Given the description of an element on the screen output the (x, y) to click on. 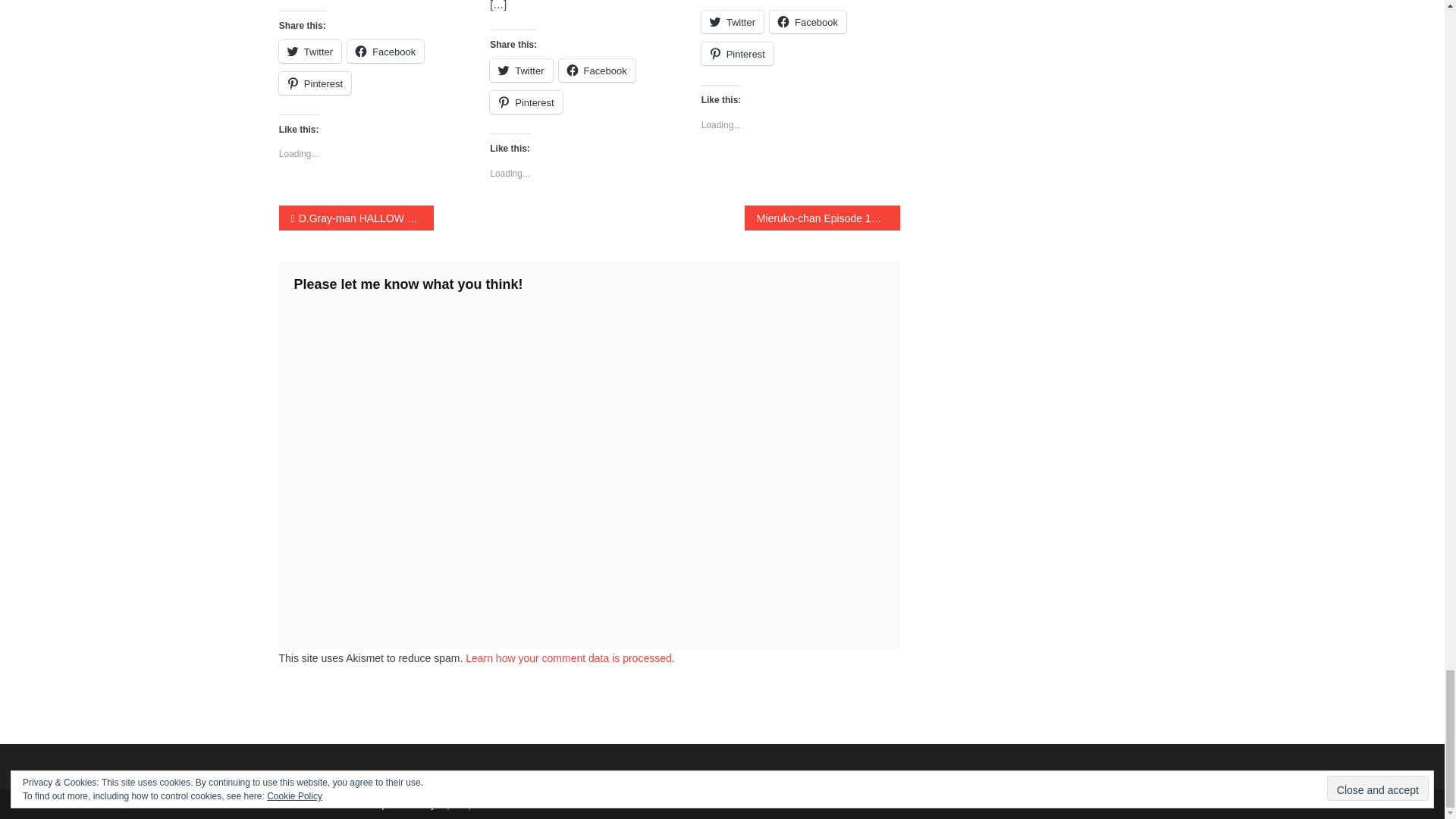
Click to share on Pinterest (525, 101)
Click to share on Twitter (731, 21)
Click to share on Facebook (596, 69)
Click to share on Twitter (520, 69)
Click to share on Pinterest (314, 83)
Click to share on Twitter (309, 51)
Click to share on Facebook (385, 51)
